Given the description of an element on the screen output the (x, y) to click on. 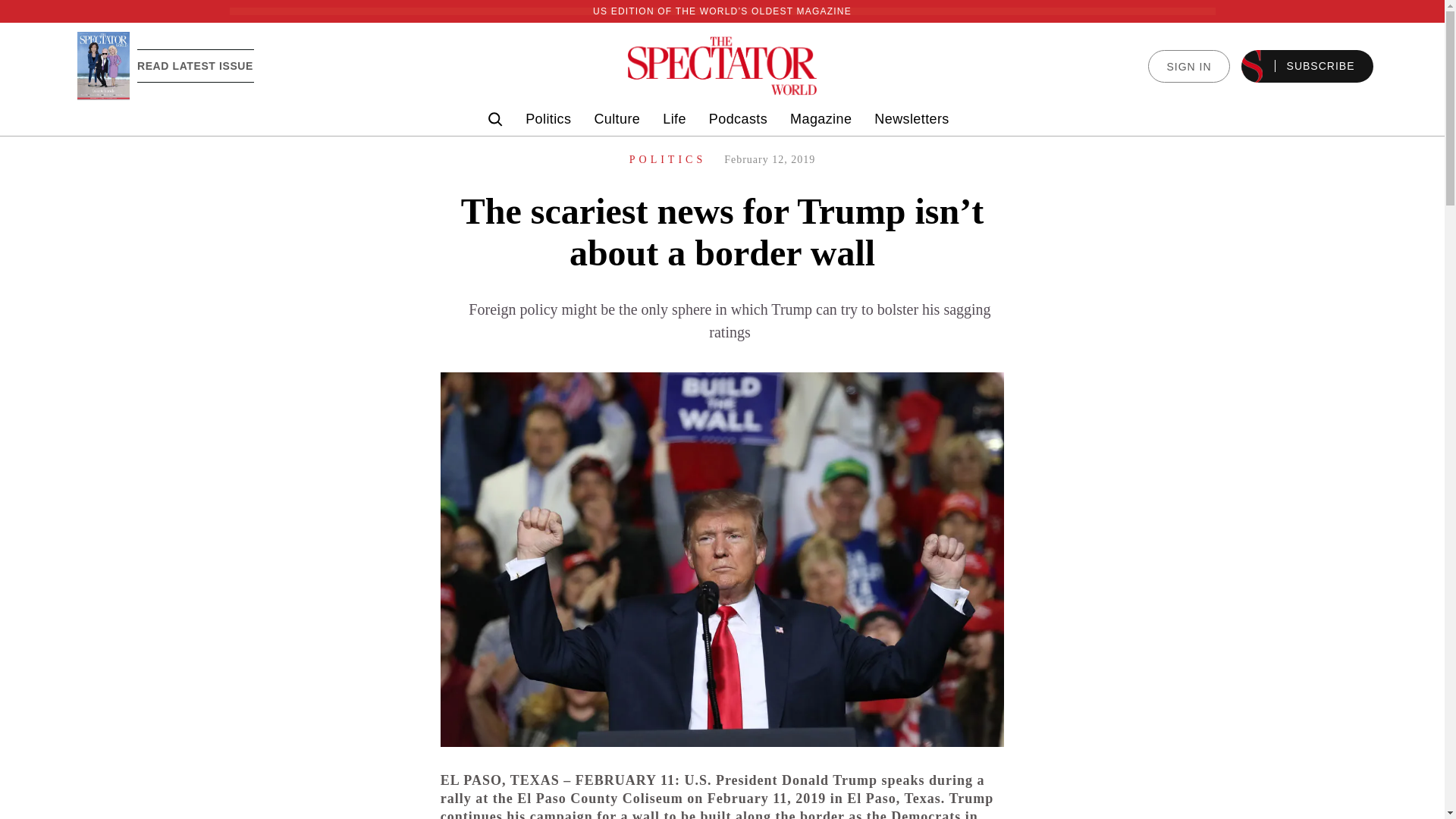
SUBSCRIBE (1307, 65)
POLITICS (667, 159)
Politics (547, 119)
Culture (616, 119)
Magazine (820, 119)
Podcasts (737, 119)
Life (673, 119)
SIGN IN (1188, 65)
READ LATEST ISSUE (194, 65)
Newsletters (911, 119)
